Given the description of an element on the screen output the (x, y) to click on. 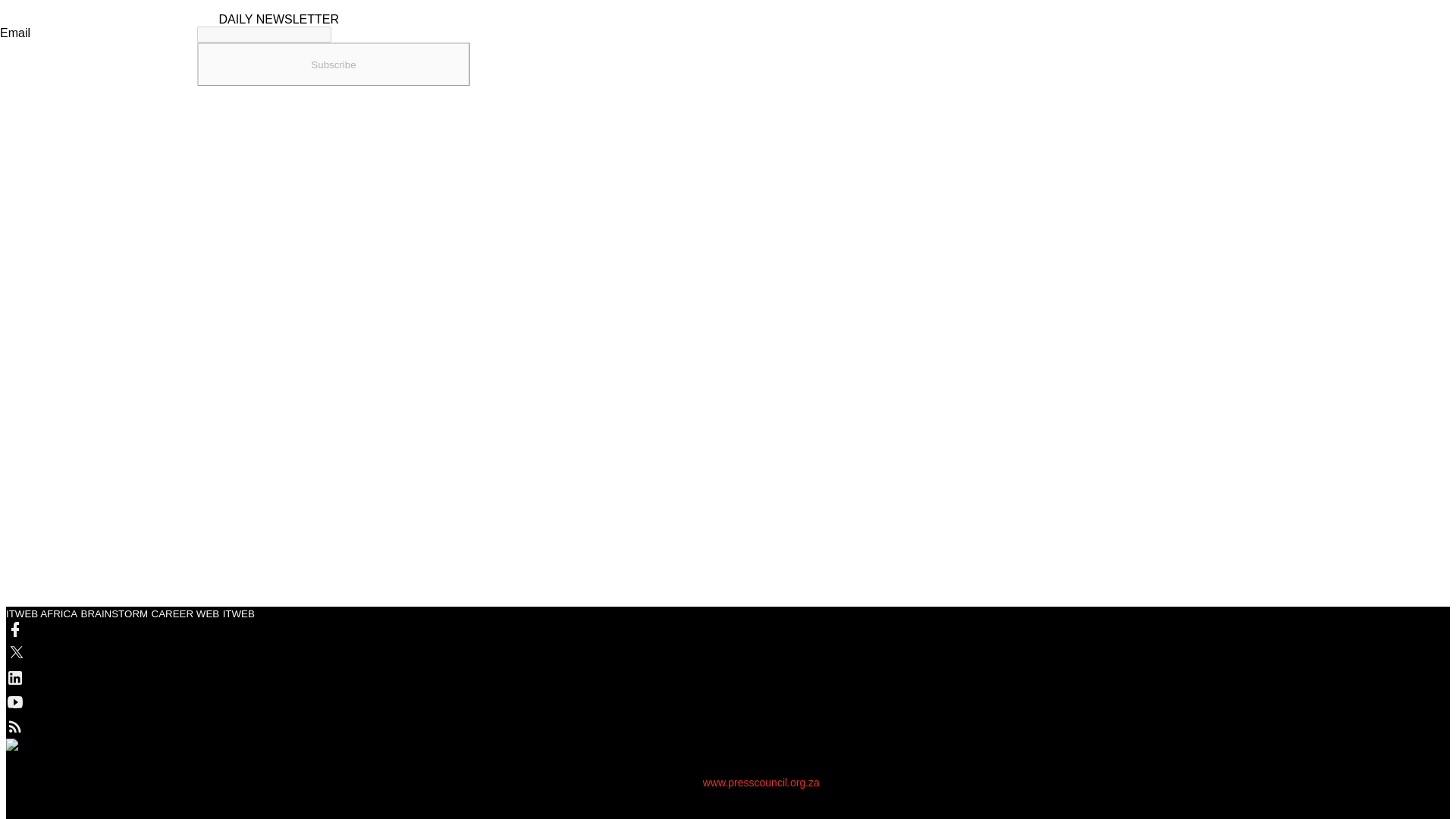
Youtube play icon (14, 701)
CAREER WEB (185, 613)
RSS icon (490, 726)
ITWEB (238, 613)
ITWEB AFRICA (41, 613)
BRAINSTORM (114, 613)
Facebook icon (14, 628)
www.presscouncil.org.za (761, 782)
Facebook icon (490, 630)
RSS icon (14, 726)
Linkedin icon (14, 678)
Linkedin icon (490, 677)
Youtube play icon (490, 702)
Subscribe (333, 63)
